Given the description of an element on the screen output the (x, y) to click on. 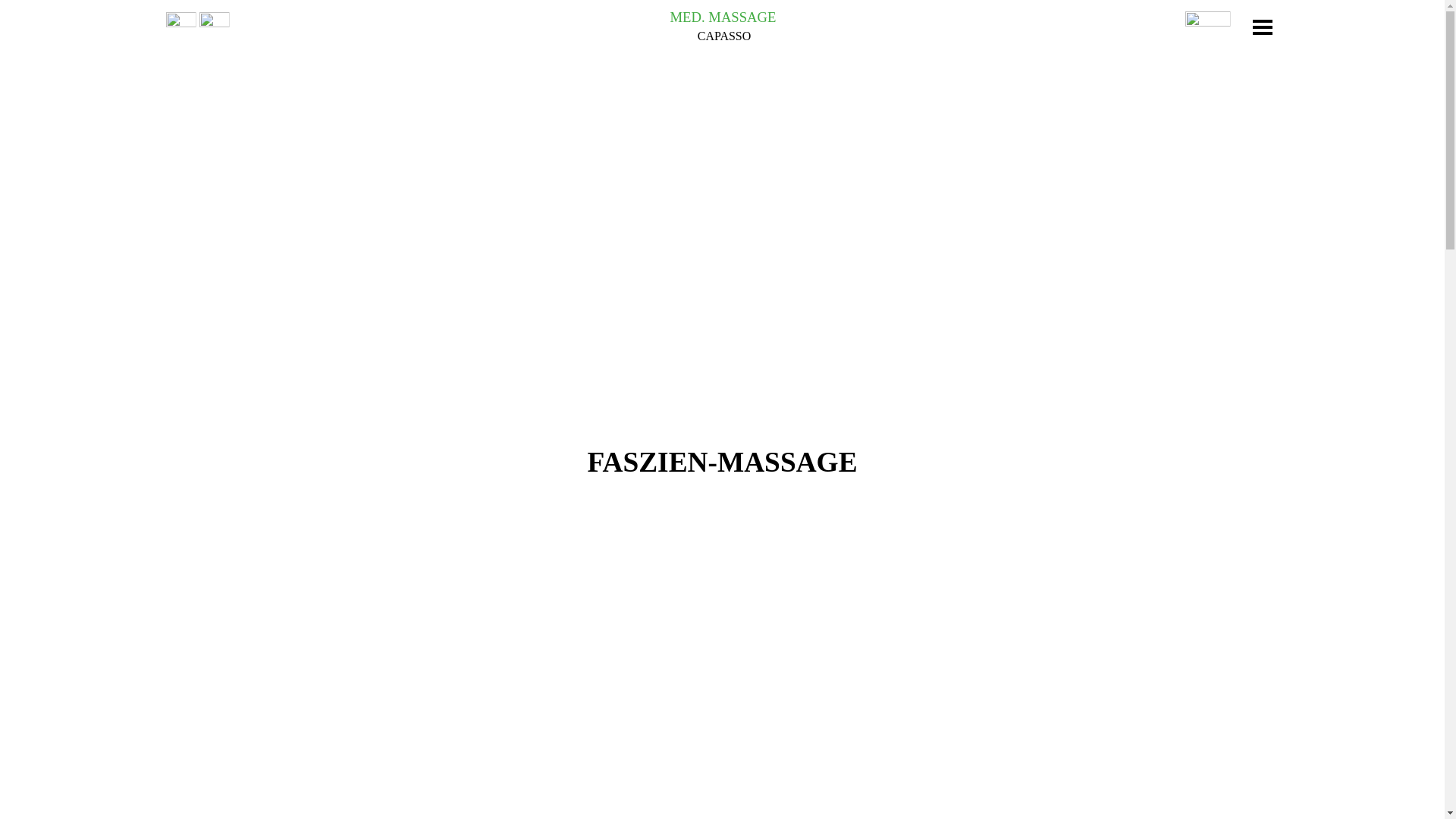
CAPASSO Element type: text (724, 35)
MED. MASSAGE Element type: text (723, 17)
